Given the description of an element on the screen output the (x, y) to click on. 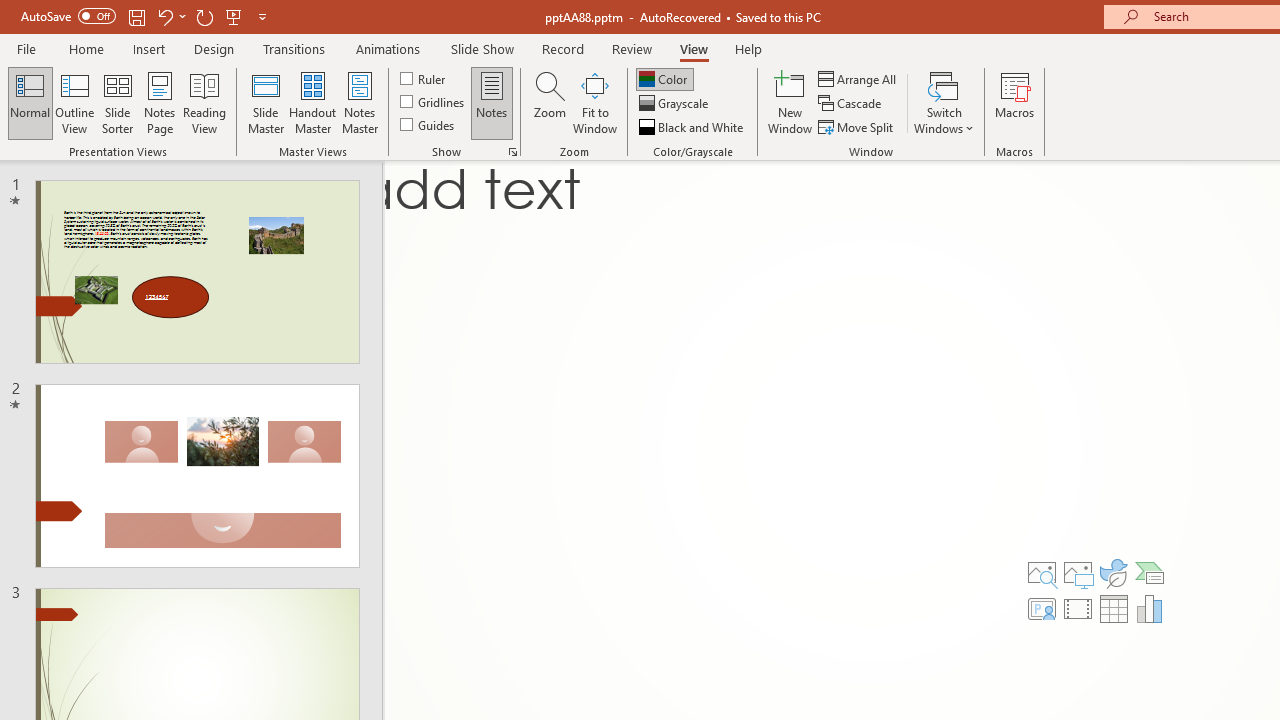
Gridlines (433, 101)
Notes (492, 102)
Color (664, 78)
Slide Master (265, 102)
Insert a SmartArt Graphic (1150, 572)
